Given the description of an element on the screen output the (x, y) to click on. 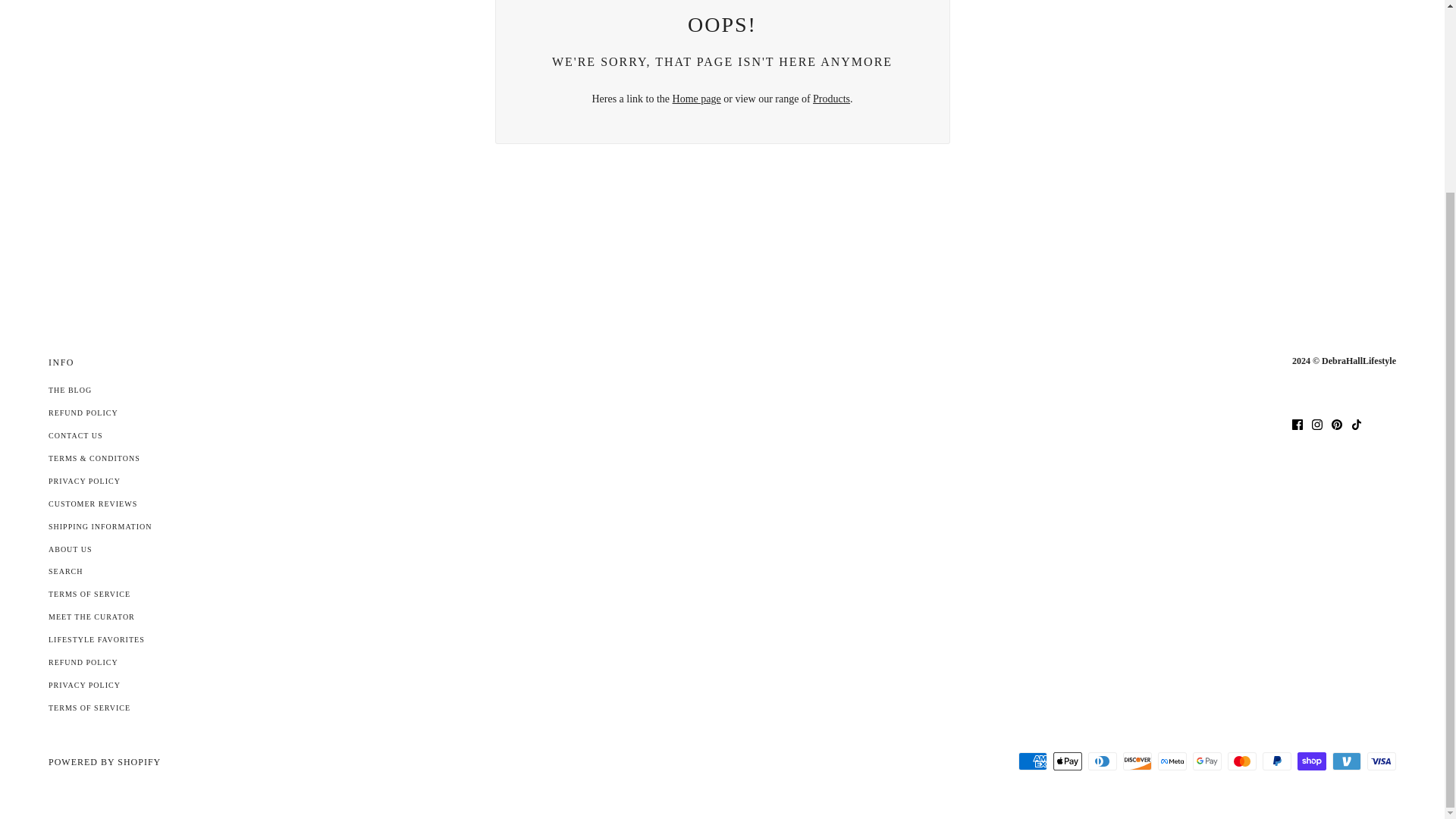
Lifestyle Favorites (96, 639)
Refund policy (82, 412)
Customer Reviews (92, 503)
Privacy Policy (84, 480)
The Blog (69, 389)
Terms of service (89, 707)
About Us (70, 549)
Contact Us (75, 435)
Meet The Curator (91, 616)
Privacy policy (84, 684)
Refund policy (82, 662)
Shipping Information (99, 526)
Terms of Service (89, 593)
